Given the description of an element on the screen output the (x, y) to click on. 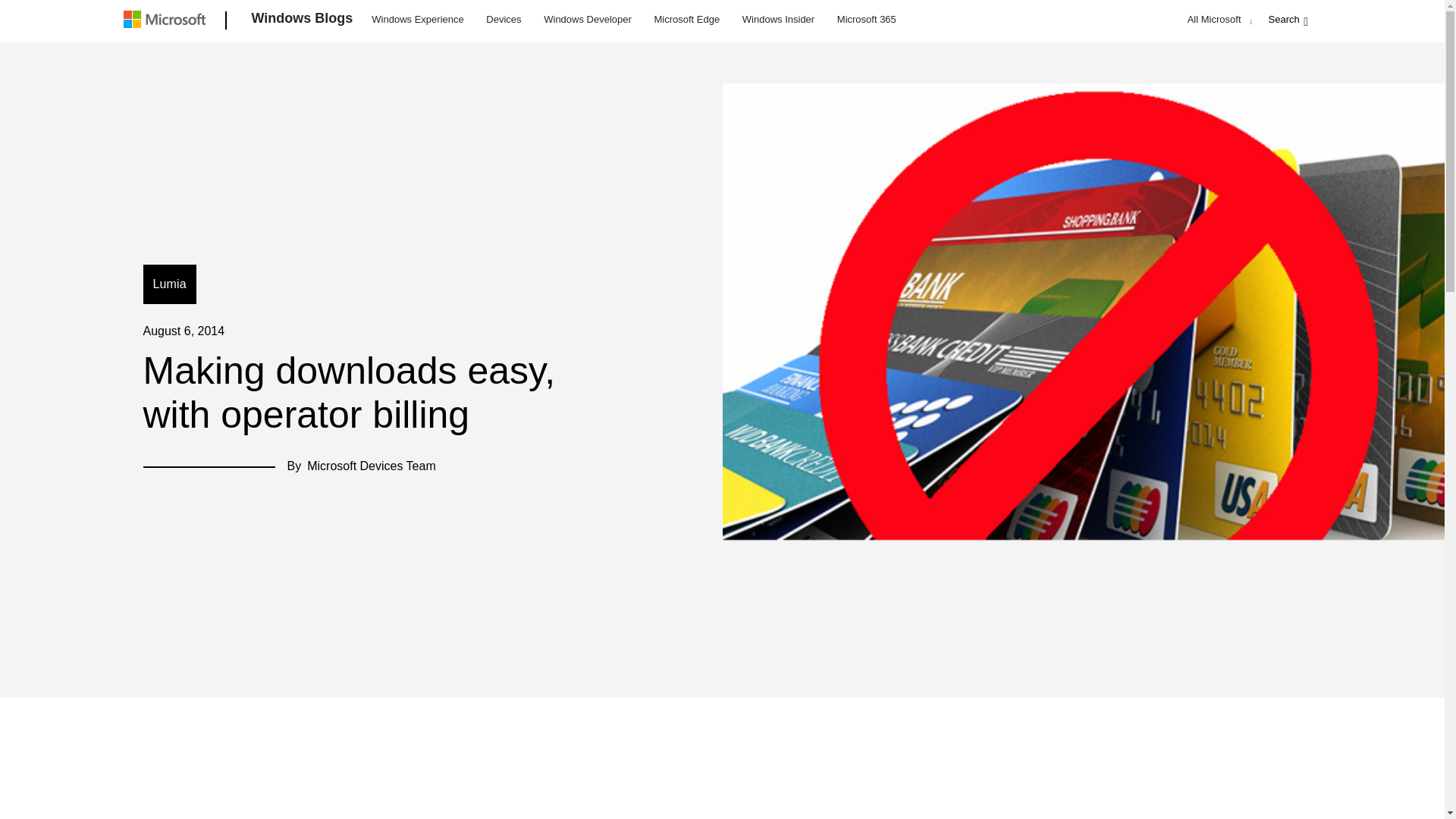
Windows Insider (778, 18)
Microsoft 365 (865, 18)
All Microsoft (1217, 18)
Microsoft Edge (686, 18)
Windows Developer (588, 18)
Windows Experience (417, 18)
Devices (503, 18)
Windows Blogs (302, 20)
Microsoft (167, 20)
